Given the description of an element on the screen output the (x, y) to click on. 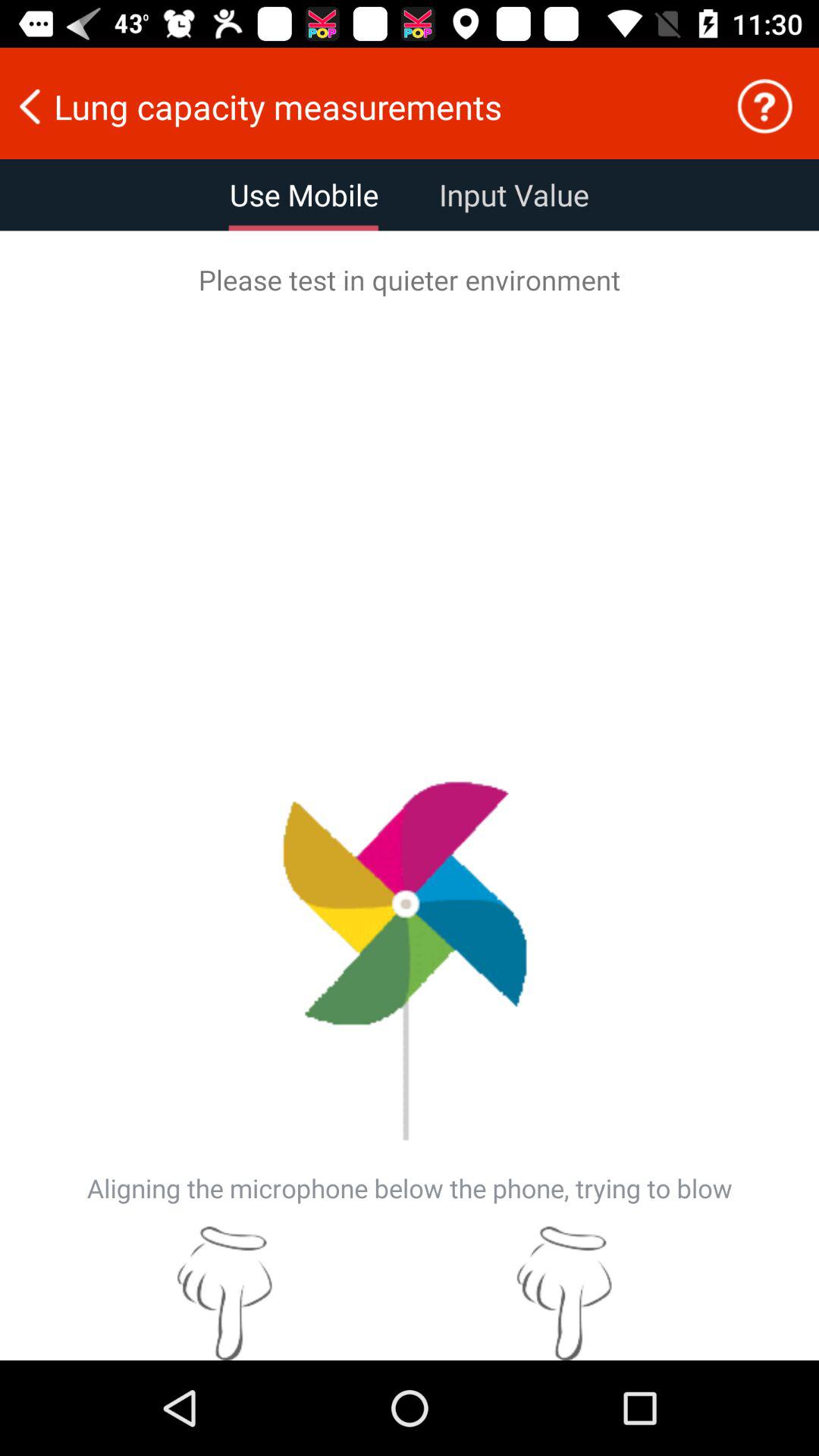
help (764, 106)
